Given the description of an element on the screen output the (x, y) to click on. 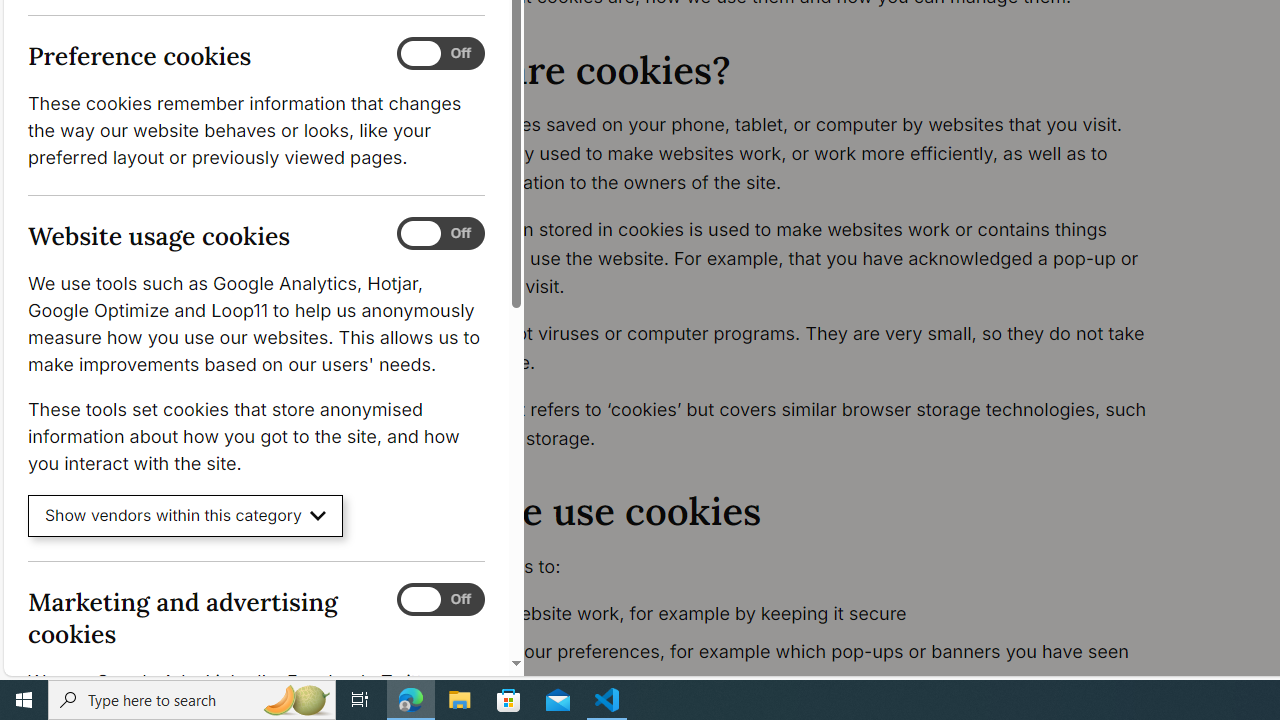
Website usage cookies (440, 233)
Preference cookies (440, 53)
Show vendors within this category (185, 516)
Marketing and advertising cookies (440, 599)
make our website work, for example by keeping it secure (796, 614)
